Given the description of an element on the screen output the (x, y) to click on. 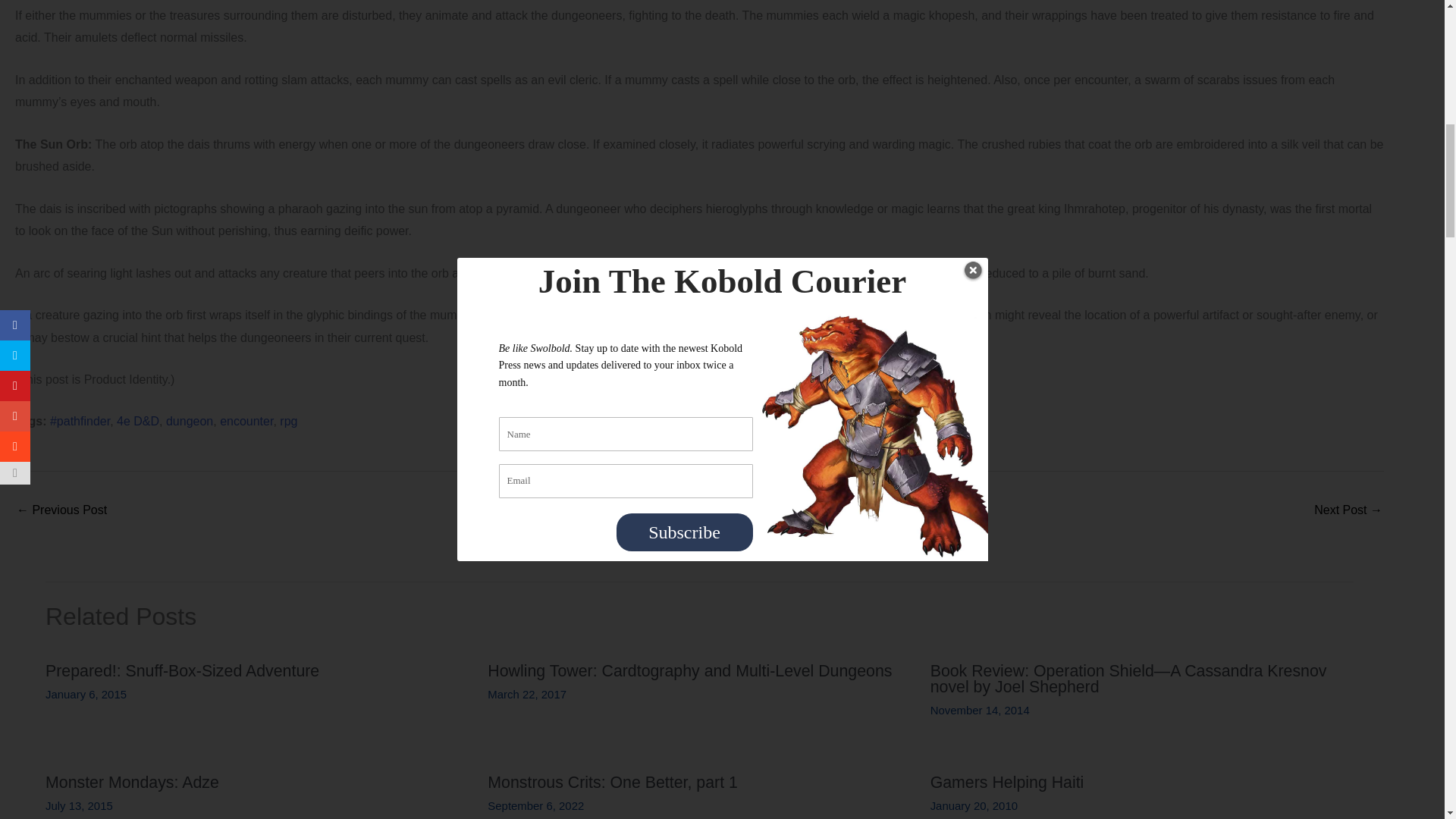
Harrowing Haunts: Dunes of Despair (61, 511)
Real Steel: The Danish Axe (1347, 511)
